Given the description of an element on the screen output the (x, y) to click on. 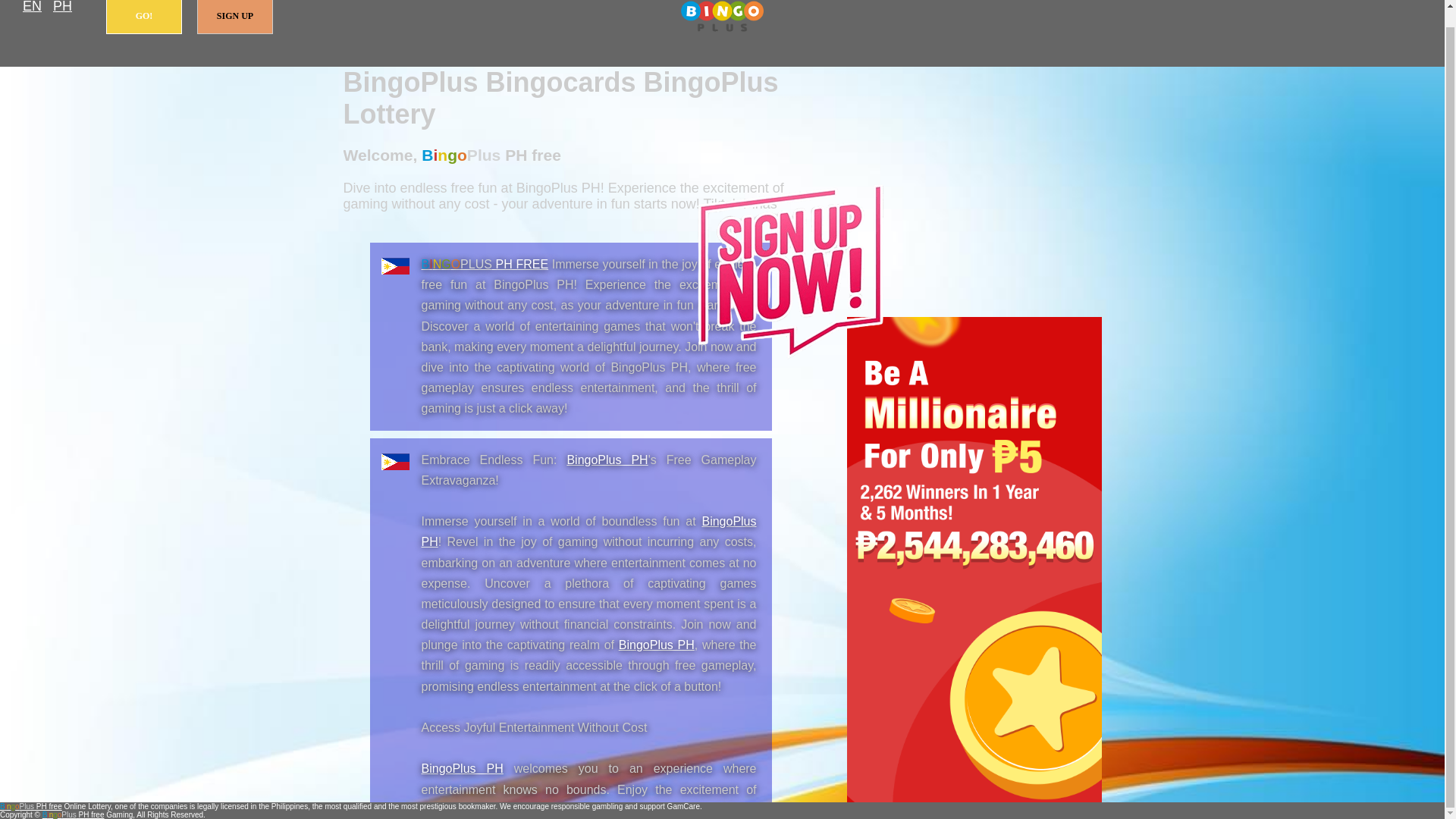
BingoPlus PH (462, 768)
BingoPlus PH free (485, 264)
BingoPlus PH - BingoPlus PH free (462, 768)
BingoPlus PH - BingoPlus PH free (606, 459)
EN (32, 7)
English - Filipino (32, 7)
BingoPlus PH (656, 644)
BingoPlus PH - BingoPlus PH free (656, 644)
SIGN UP (234, 17)
GO! (144, 17)
Pilipinas - Filipino (61, 7)
BINGOPLUS PH FREE (485, 264)
BingoPlus PH free (31, 806)
BingoPlus PH - BingoPlus PH free (589, 531)
BingoPlus PH (589, 531)
